Given the description of an element on the screen output the (x, y) to click on. 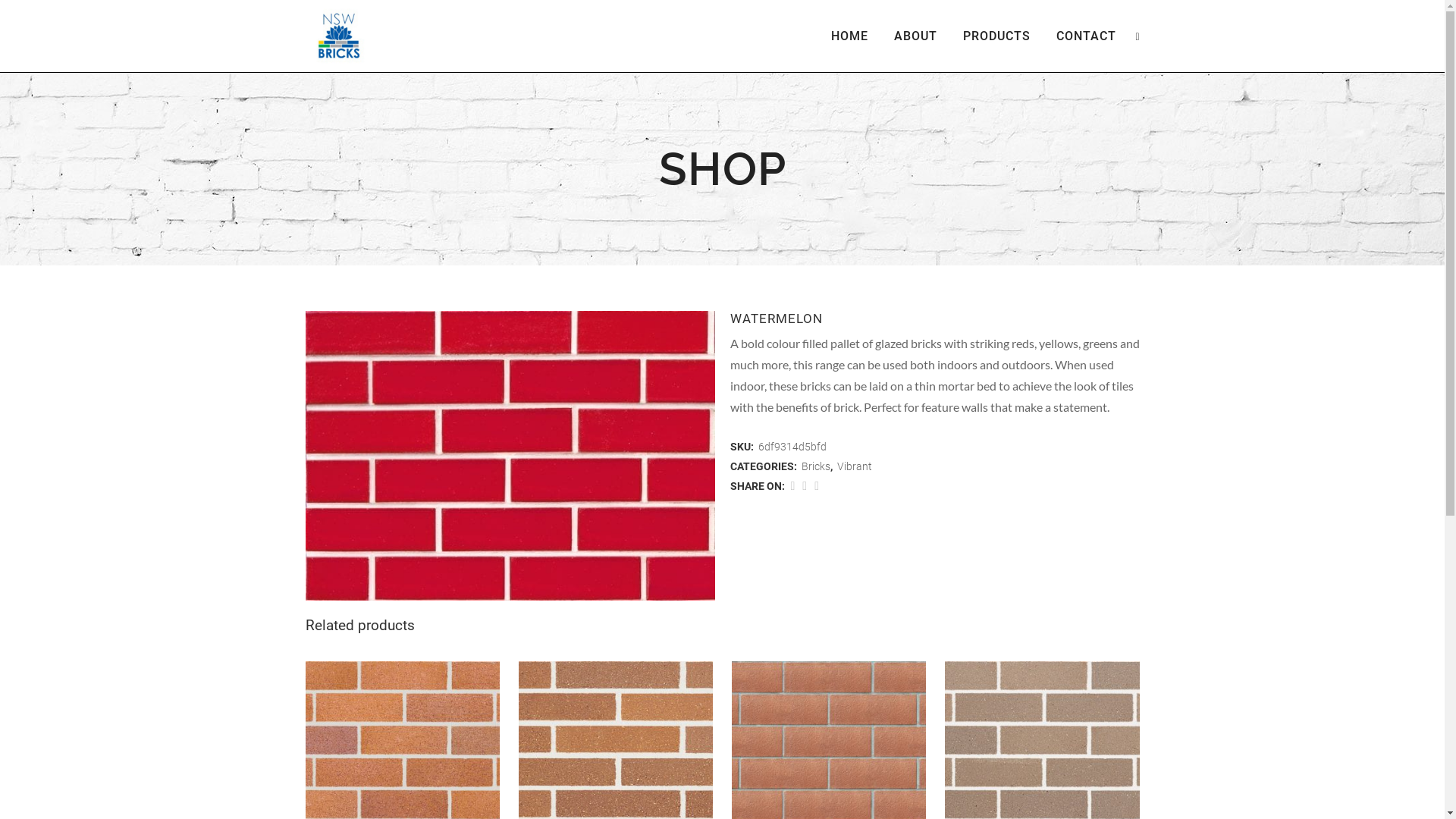
Share on Facebook Element type: hover (792, 485)
watermelon_-jpg.jpg Element type: hover (509, 455)
PRODUCTS Element type: text (996, 36)
HOME Element type: text (849, 36)
Share on Twitter Element type: hover (804, 485)
CONTACT Element type: text (1086, 36)
Bricks Element type: text (814, 466)
Vibrant Element type: text (854, 466)
ABOUT Element type: text (915, 36)
Share on Google+ Element type: hover (816, 485)
